Given the description of an element on the screen output the (x, y) to click on. 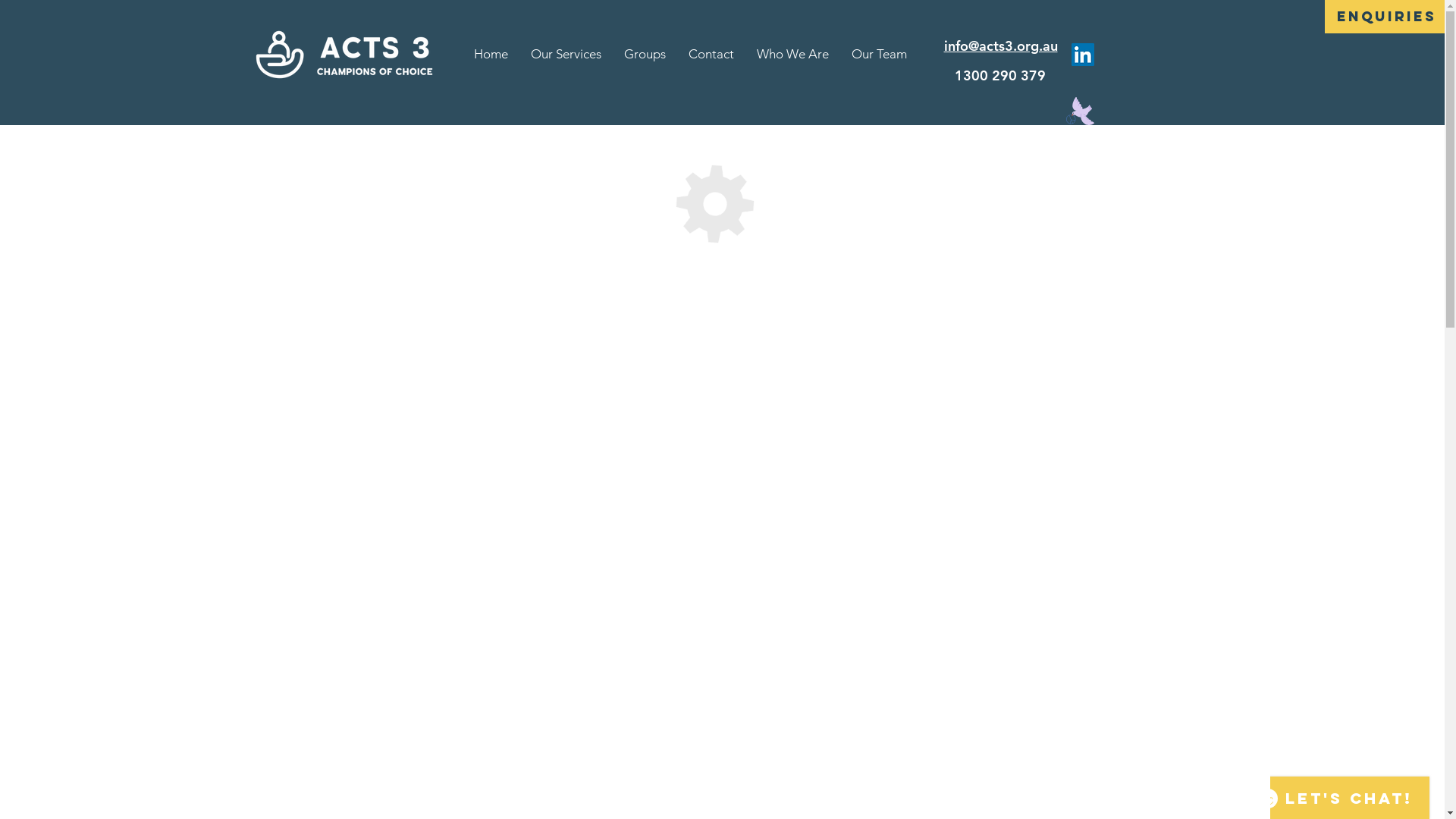
Our Services Element type: text (565, 53)
ENQUIRIES Element type: text (1385, 16)
info@acts3.org.au Element type: text (1000, 45)
Who We Are Element type: text (792, 53)
Our Team Element type: text (879, 53)
Home Element type: text (490, 53)
Contact Element type: text (711, 53)
Groups Element type: text (644, 53)
